Given the description of an element on the screen output the (x, y) to click on. 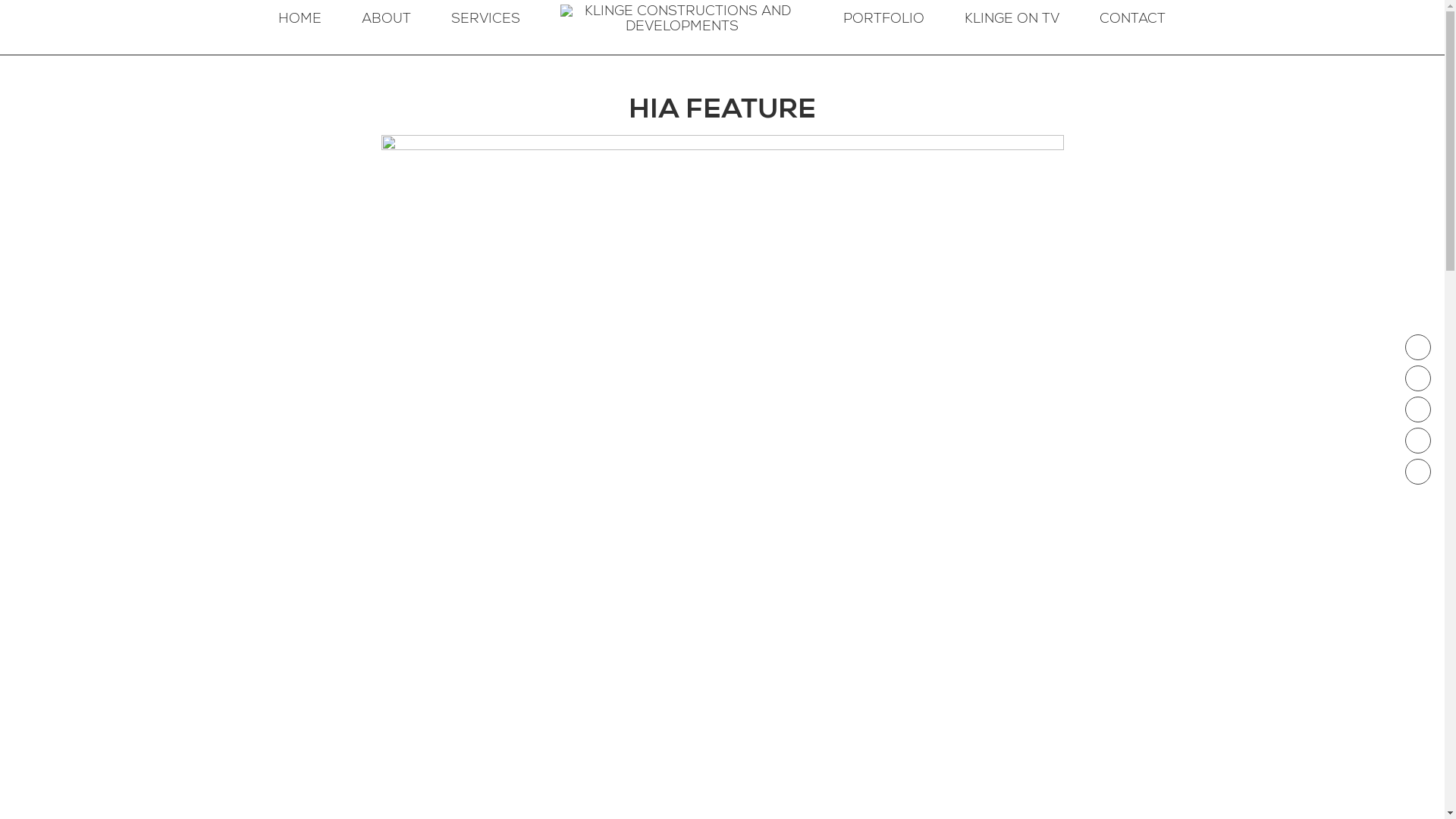
Houzz Element type: hover (1417, 440)
Facebook Element type: hover (1417, 347)
PORTFOLIO Element type: text (884, 19)
KLINGE ON TV Element type: text (1012, 19)
CONTACT Element type: text (1132, 19)
Pinterest Element type: hover (1417, 471)
SERVICES Element type: text (486, 19)
Twitter Element type: hover (1417, 409)
ABOUT Element type: text (386, 19)
HOME Element type: text (300, 19)
Instagram Element type: hover (1417, 378)
